Given the description of an element on the screen output the (x, y) to click on. 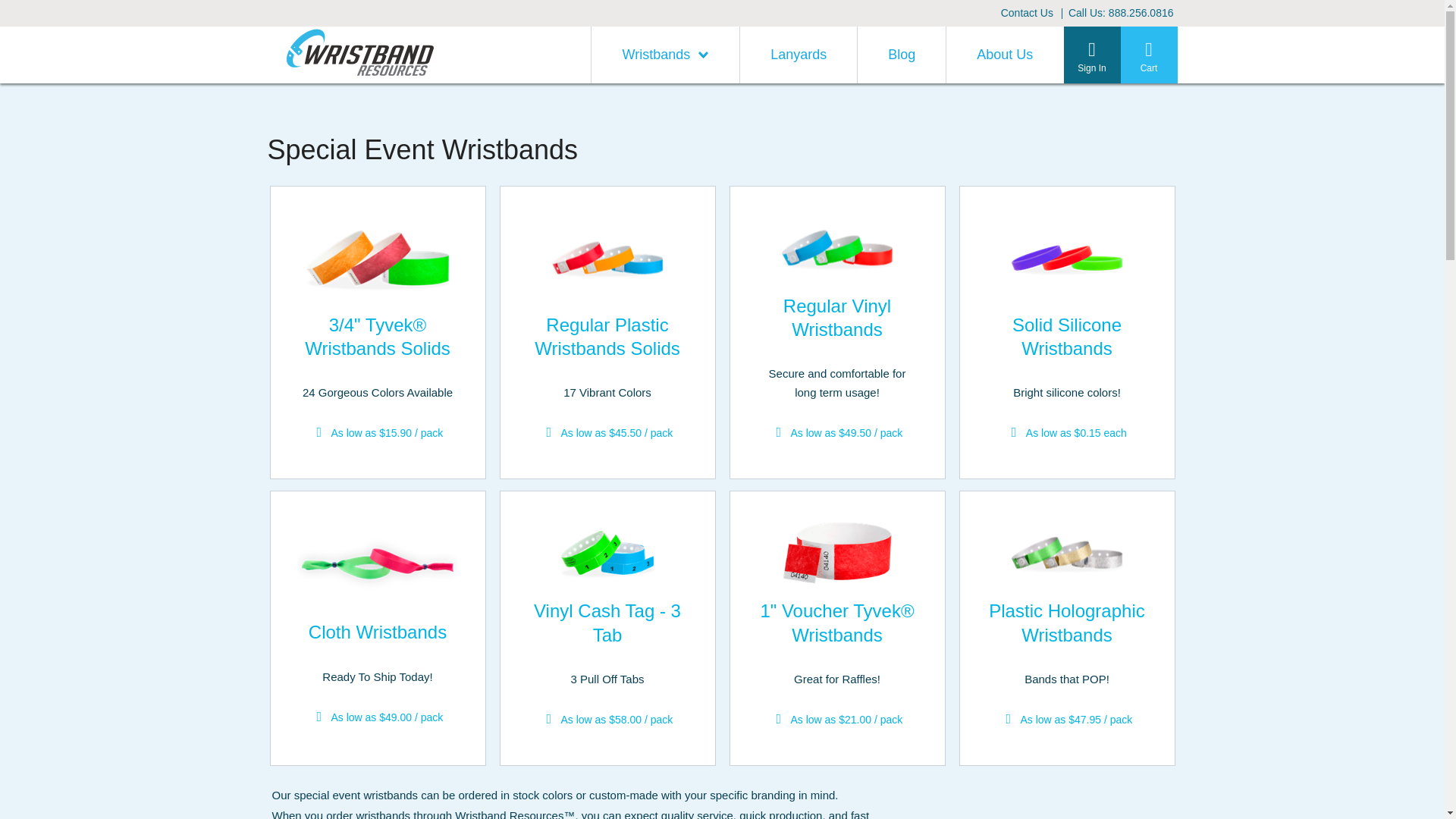
Call Us: 888.256.0816 (1120, 13)
About Us (1003, 54)
Wristbands (665, 54)
Cart (1149, 54)
Lanyards (798, 54)
Blog (900, 54)
Sign in (1110, 401)
Sign In (1090, 54)
Contact Us (1027, 13)
